Given the description of an element on the screen output the (x, y) to click on. 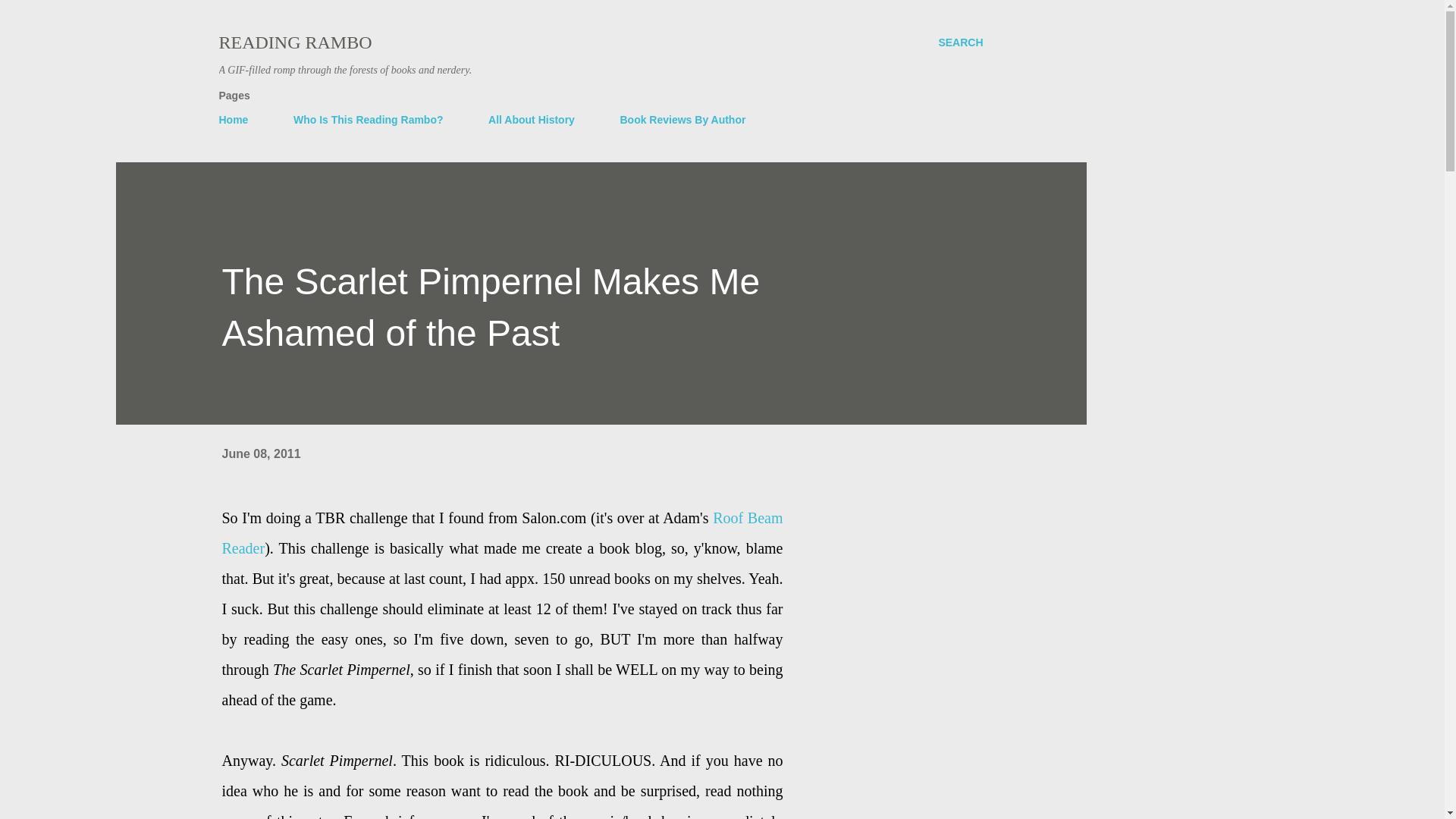
Book Reviews By Author (682, 119)
Home (237, 119)
READING RAMBO (294, 42)
permanent link (260, 453)
All About History (531, 119)
SEARCH (959, 42)
Roof Beam Reader (502, 532)
Who Is This Reading Rambo? (367, 119)
June 08, 2011 (260, 453)
